Given the description of an element on the screen output the (x, y) to click on. 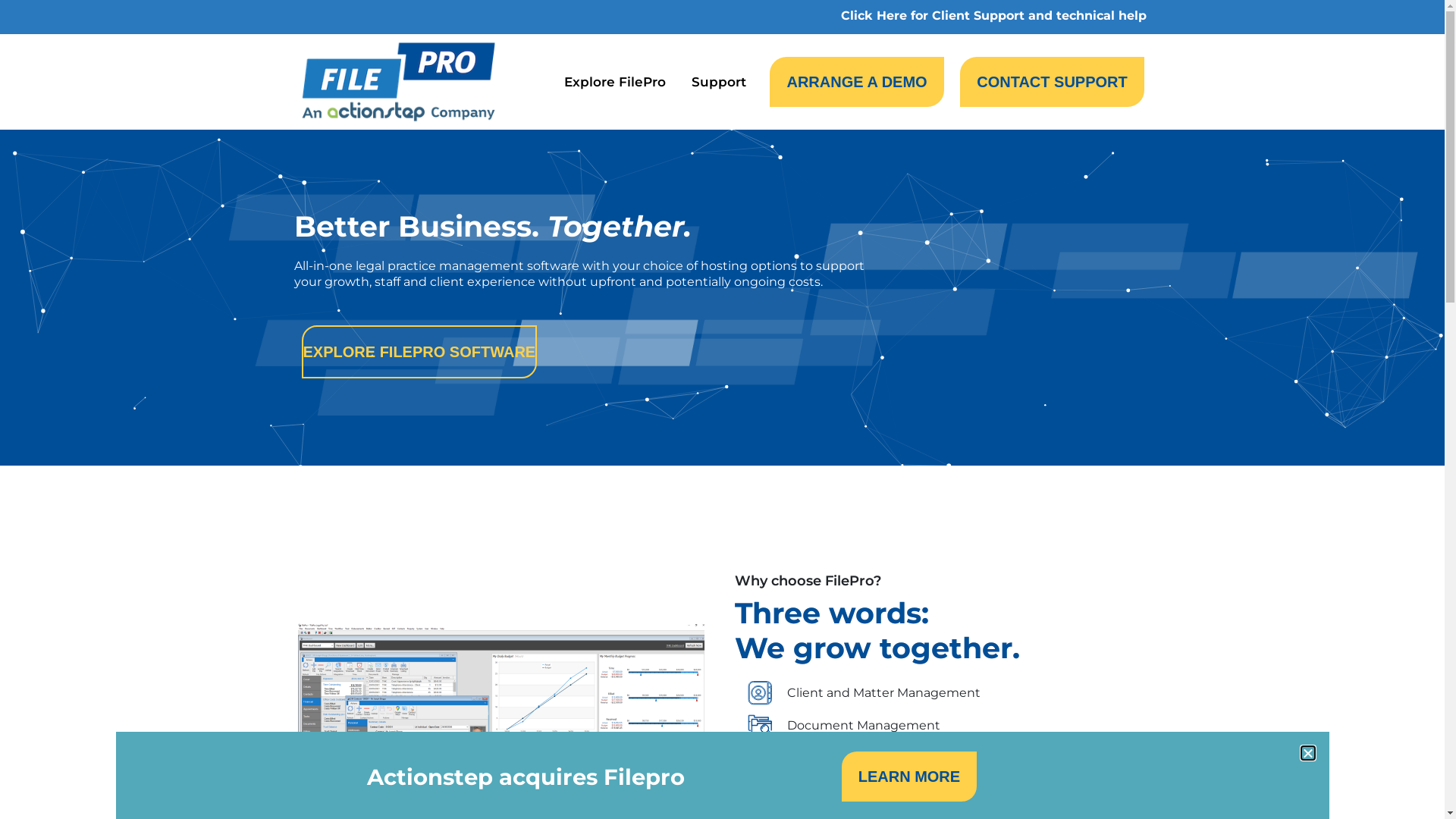
EXPLORE FILEPRO SOFTWARE Element type: text (419, 351)
LEARN MORE Element type: text (908, 776)
CONTACT SUPPORT Element type: text (1052, 81)
Click Here for Client Support and technical help Element type: text (993, 15)
ARRANGE A DEMO Element type: text (856, 81)
Support Element type: text (722, 81)
Explore FilePro Element type: text (619, 81)
